Given the description of an element on the screen output the (x, y) to click on. 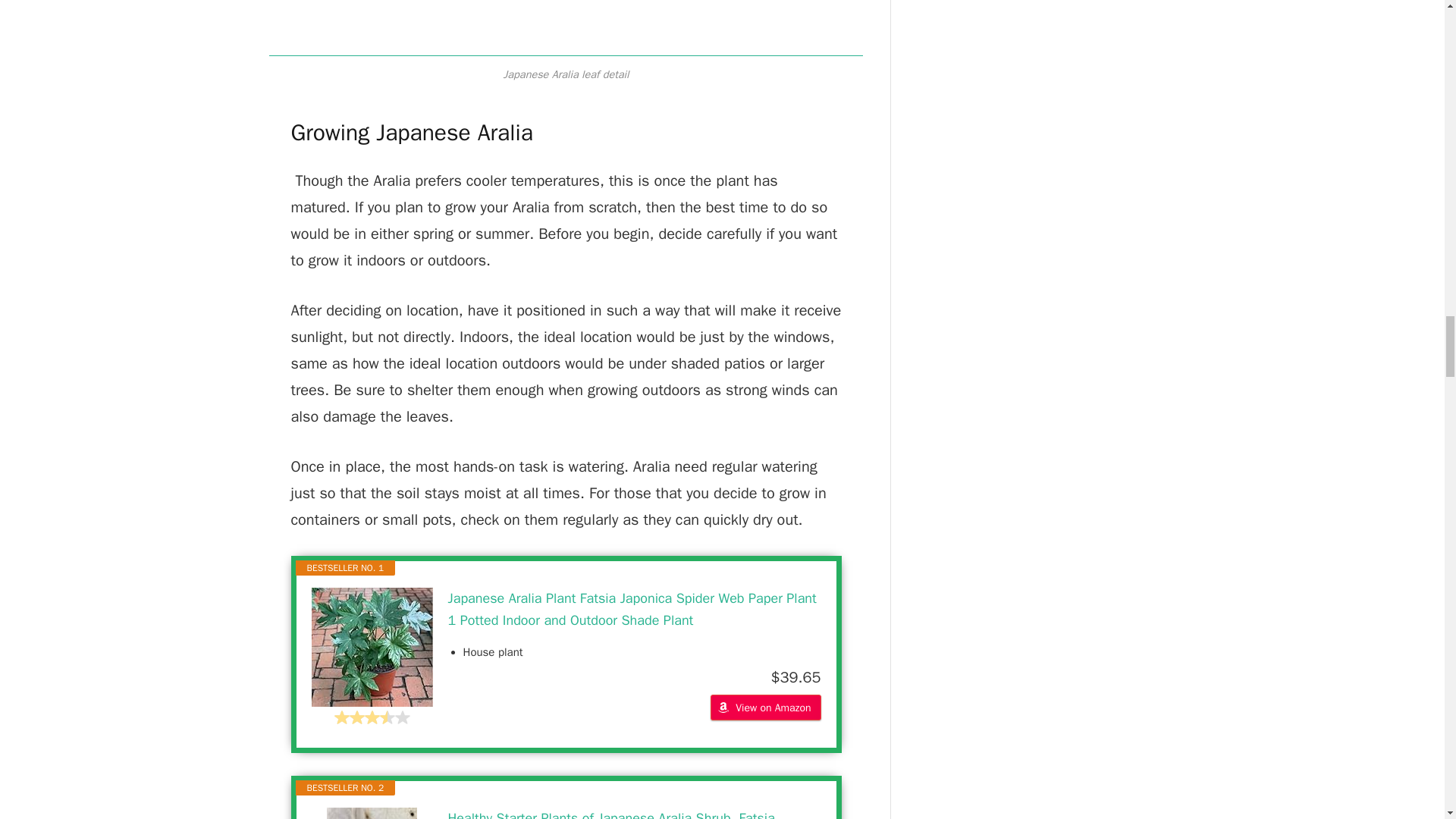
Reviews on Amazon (371, 717)
